Given the description of an element on the screen output the (x, y) to click on. 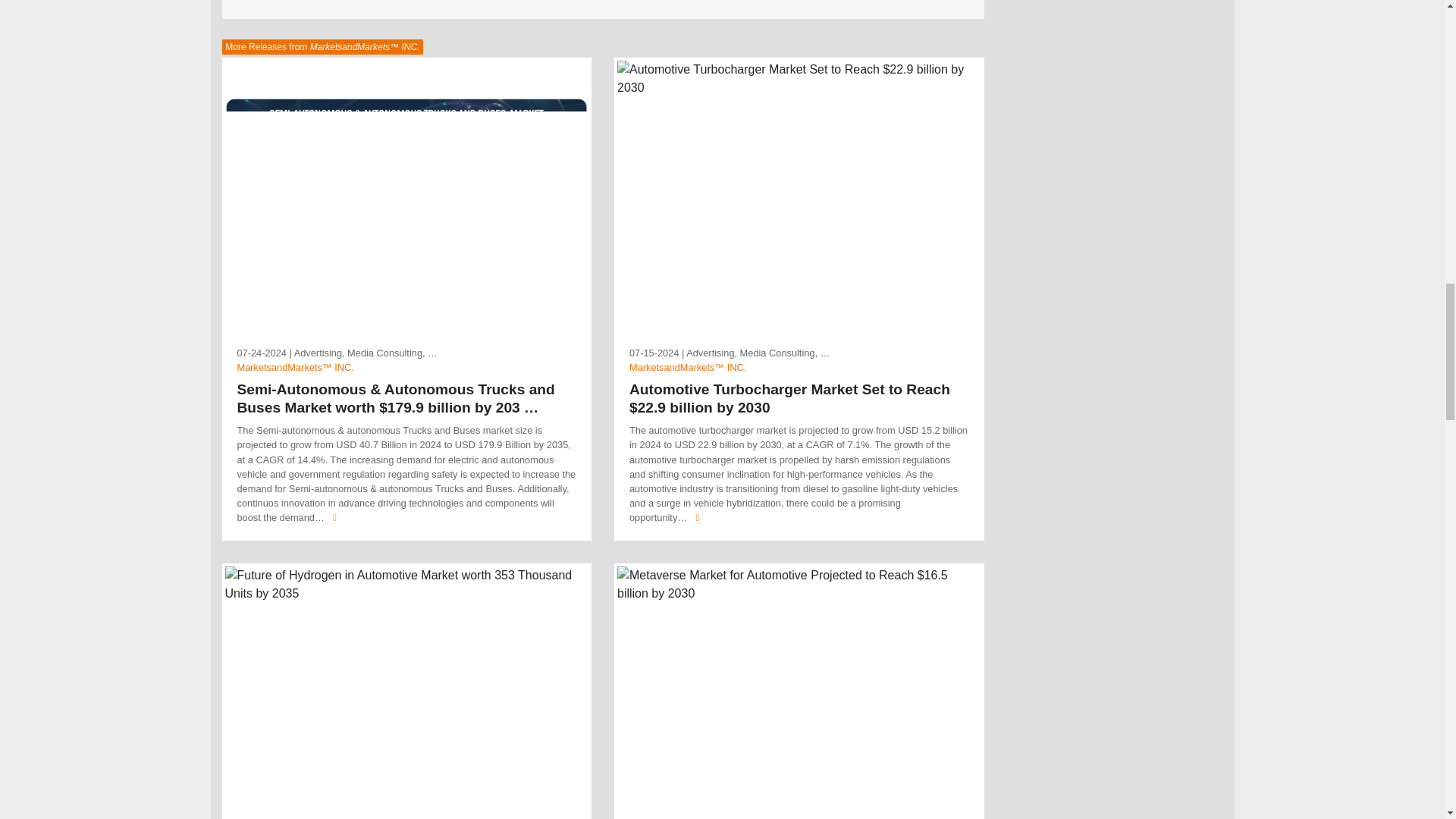
Advertising, Media Consulting, Marketing Research (366, 352)
Advertising, Media Consulting, Marketing Research (757, 352)
